Given the description of an element on the screen output the (x, y) to click on. 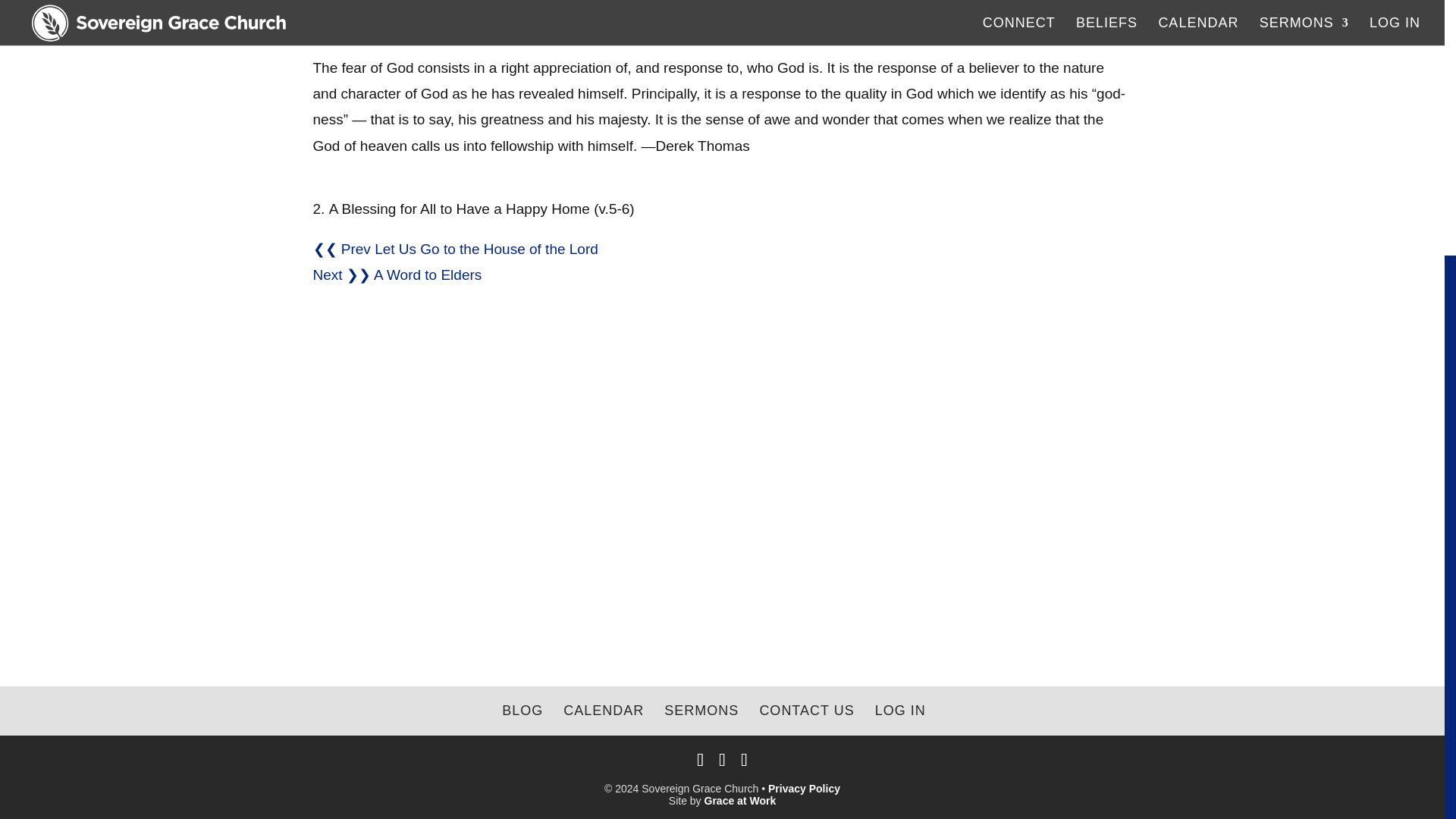
SERMONS (700, 710)
Privacy Policy (804, 788)
CALENDAR (603, 710)
A Word to Elders (427, 274)
Let Us Go to the House of the Lord (486, 248)
BLOG (522, 710)
CONTACT US (805, 710)
Grace at Work (740, 800)
LOG IN (900, 710)
